Given the description of an element on the screen output the (x, y) to click on. 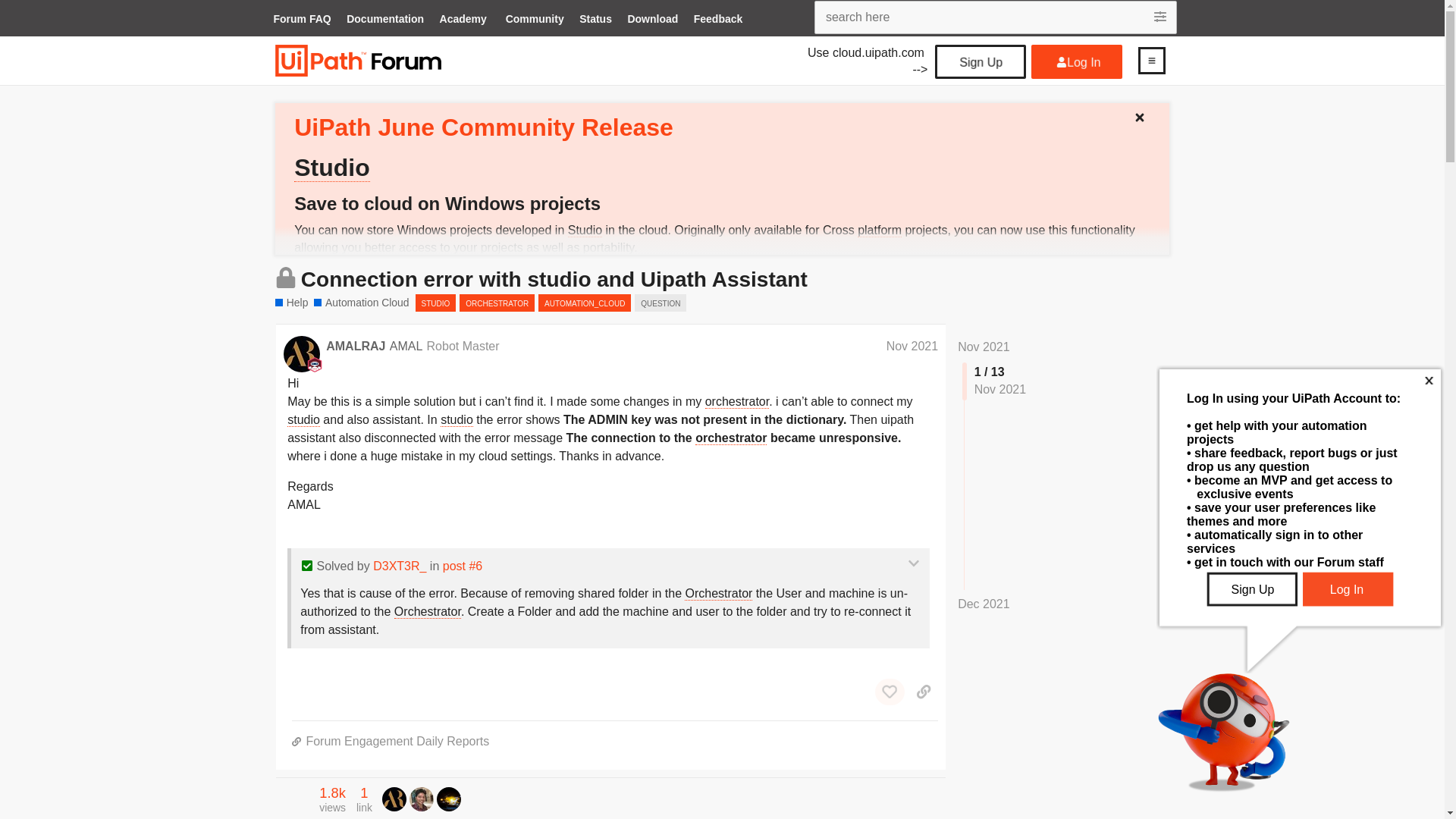
Dismiss this banner (1145, 113)
menu (1151, 59)
Academy (463, 20)
Forum FAQ (301, 20)
Documentation (384, 20)
Open advanced search (1161, 17)
